Given the description of an element on the screen output the (x, y) to click on. 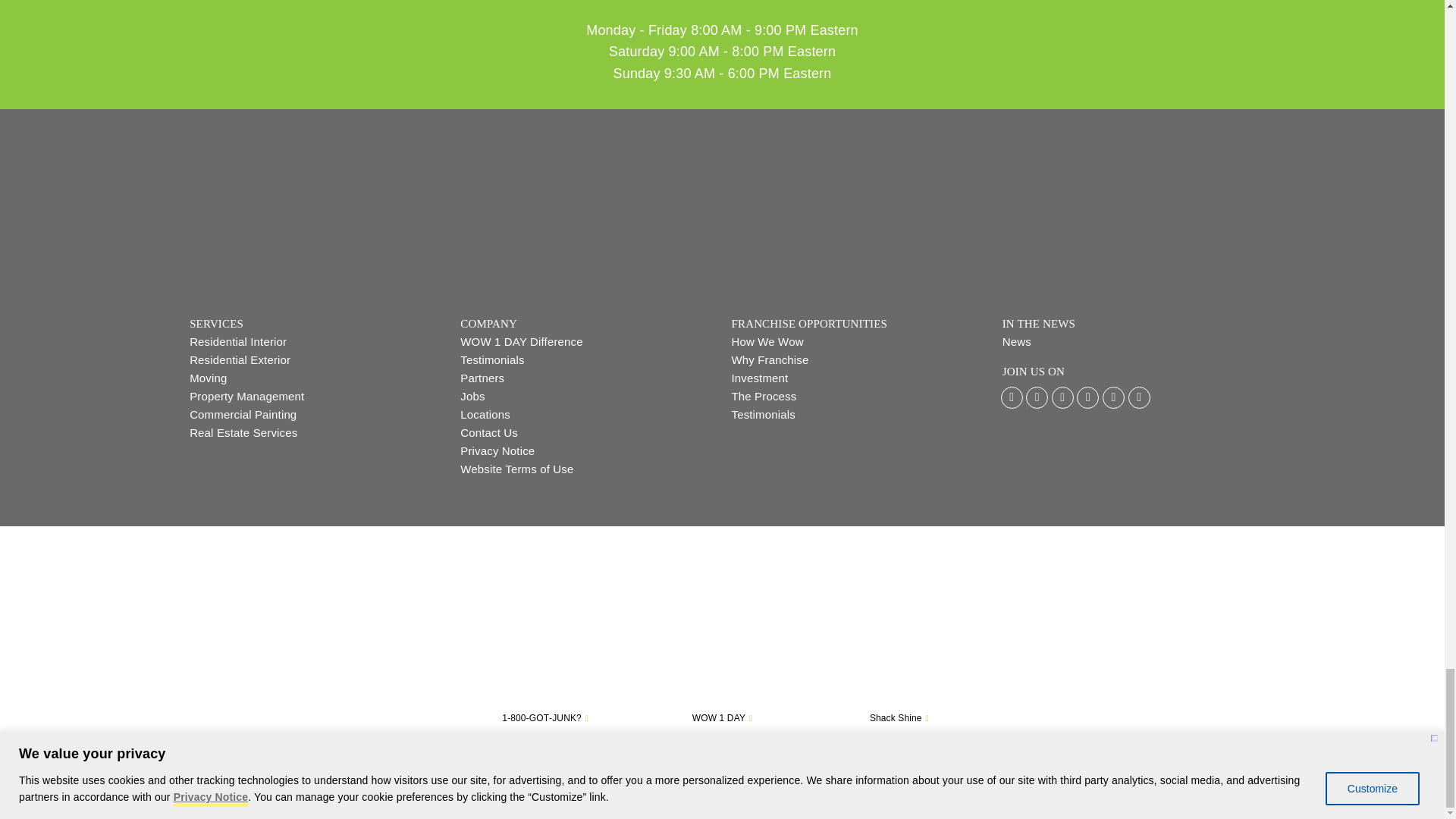
O2E Brands, Inc. - Website Terms of Use (586, 469)
Residential Interior (315, 341)
